Given the description of an element on the screen output the (x, y) to click on. 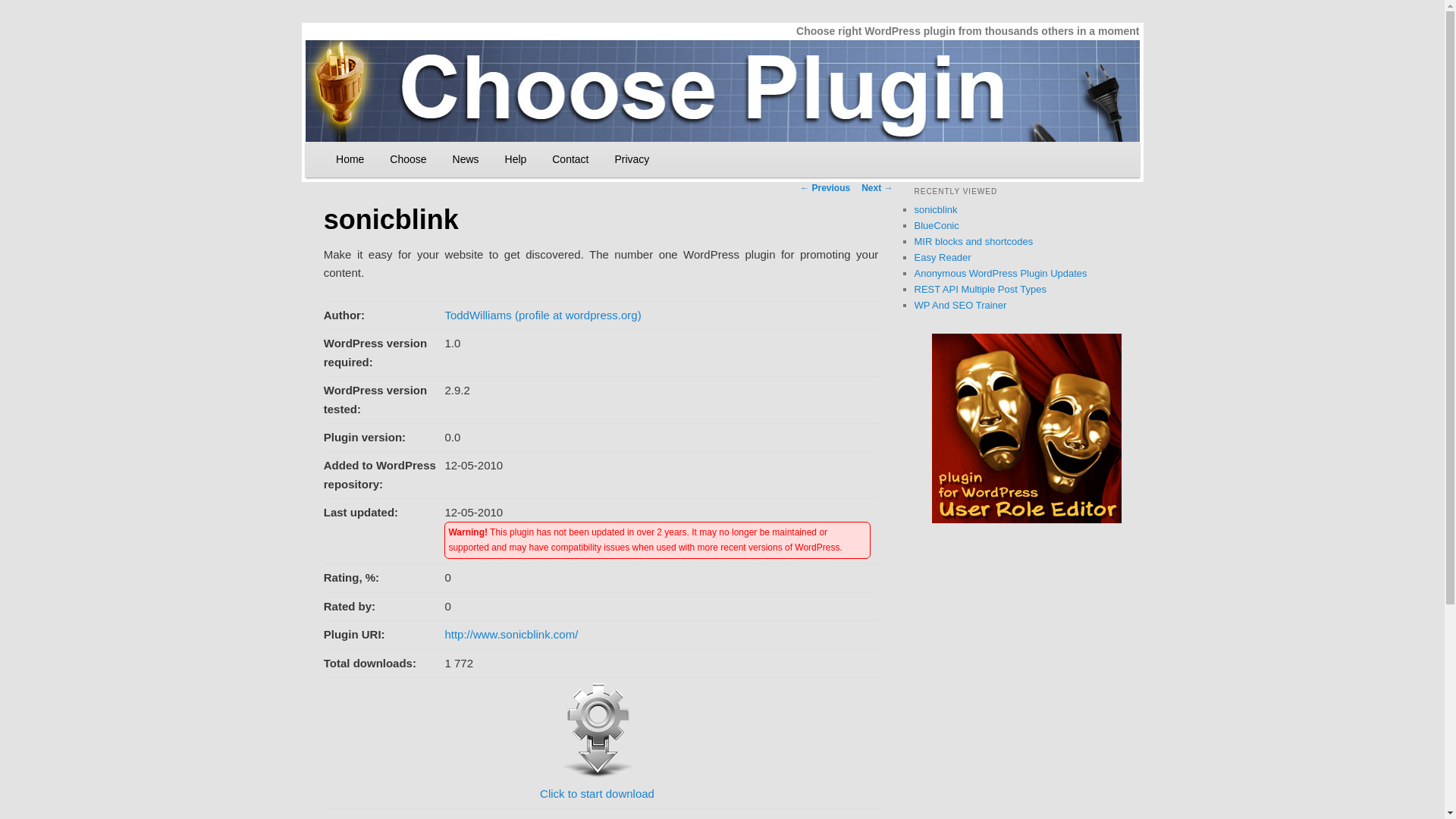
WP And SEO Trainer (960, 305)
Privacy (631, 159)
sonicblink (936, 209)
Choose Plugin service How To (516, 159)
Privacy Policy (631, 159)
REST API Multiple Post Types (980, 288)
Contact (569, 159)
